Given the description of an element on the screen output the (x, y) to click on. 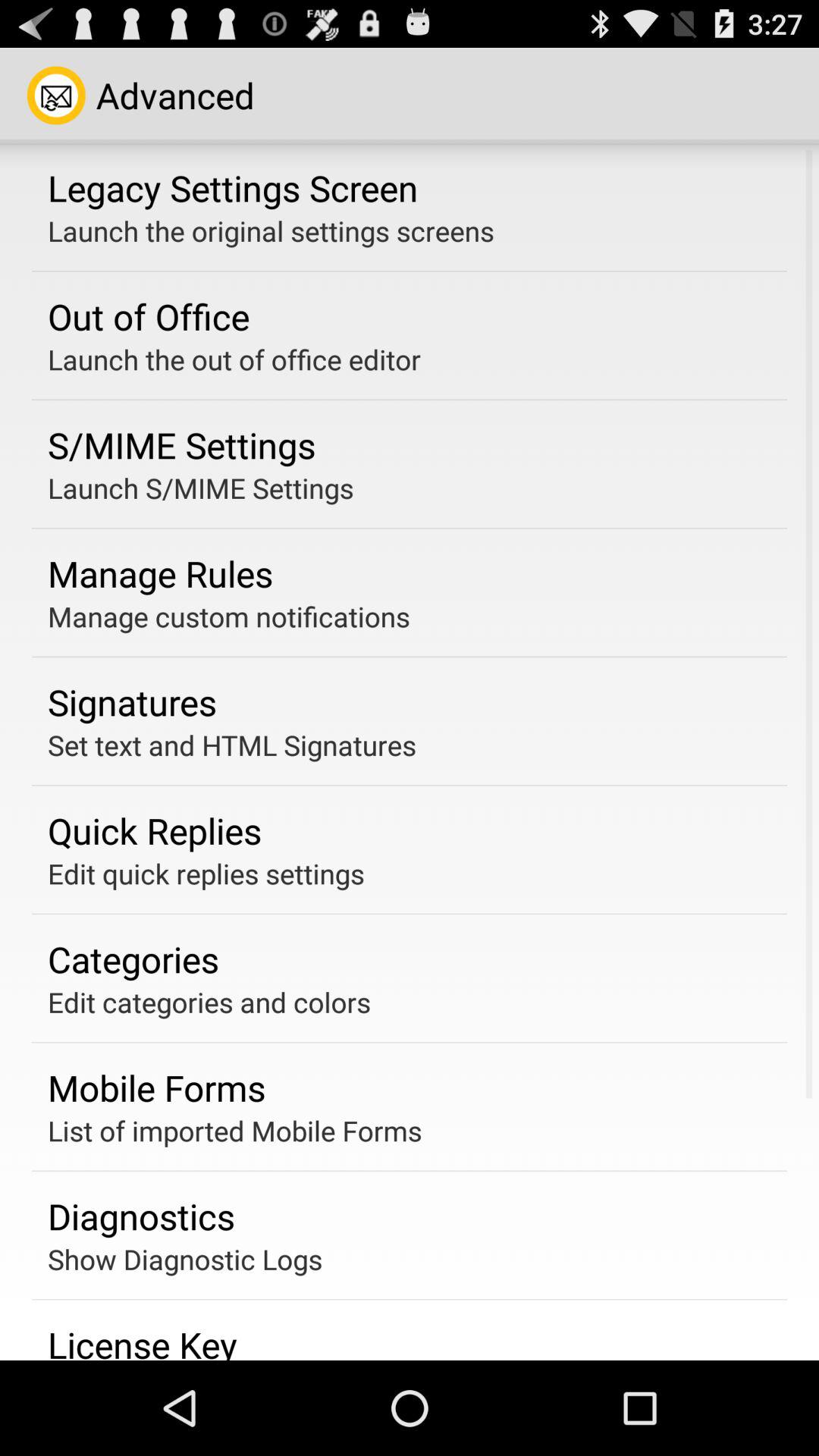
turn off icon above the launch the original (232, 187)
